Given the description of an element on the screen output the (x, y) to click on. 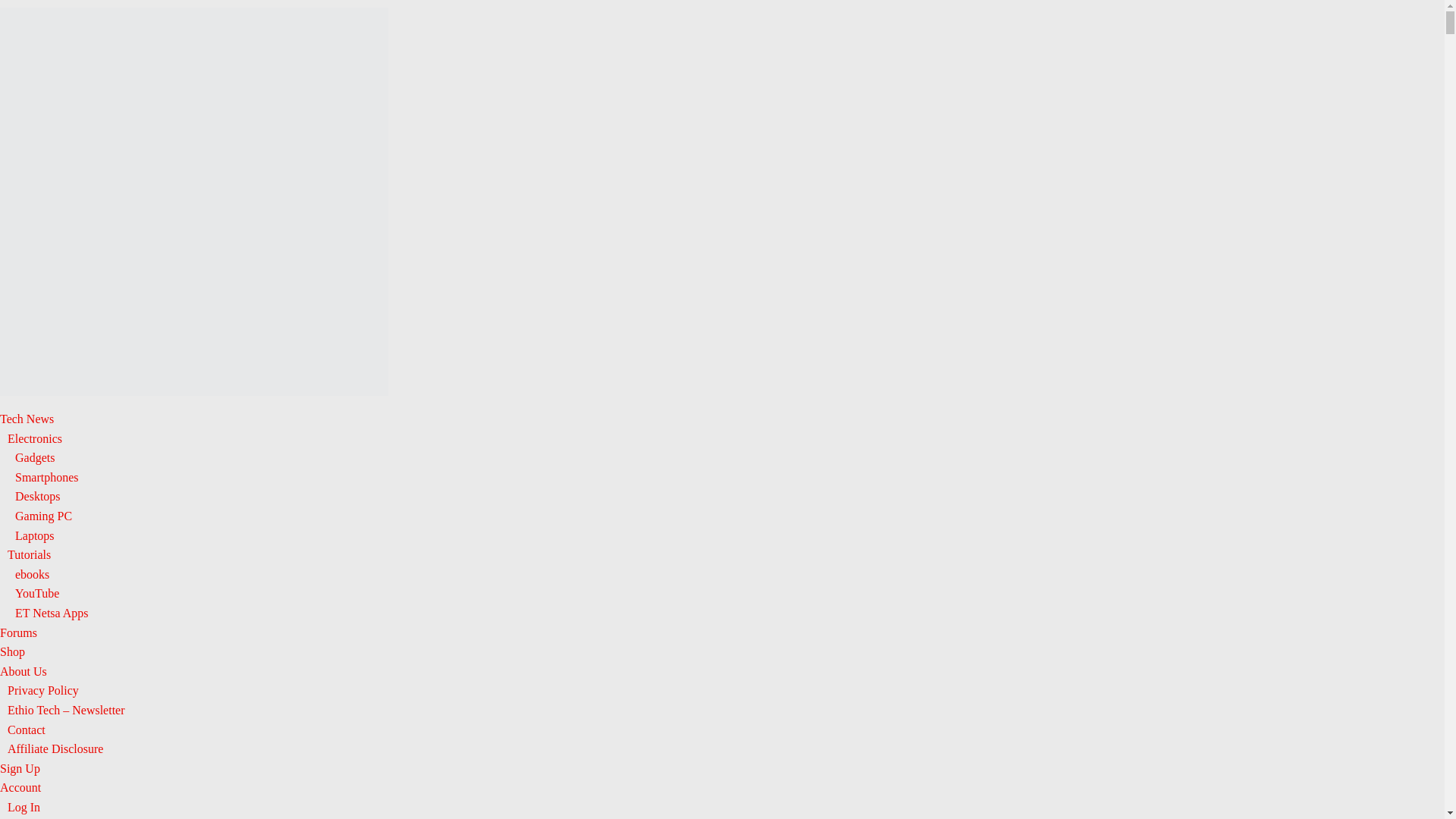
Contact (26, 729)
Gaming PC (42, 515)
Tutorials (28, 554)
Desktops (37, 495)
YouTube (36, 593)
Laptops (34, 535)
Account (20, 787)
About Us (23, 671)
ebooks (31, 574)
Sign Up (20, 768)
